Given the description of an element on the screen output the (x, y) to click on. 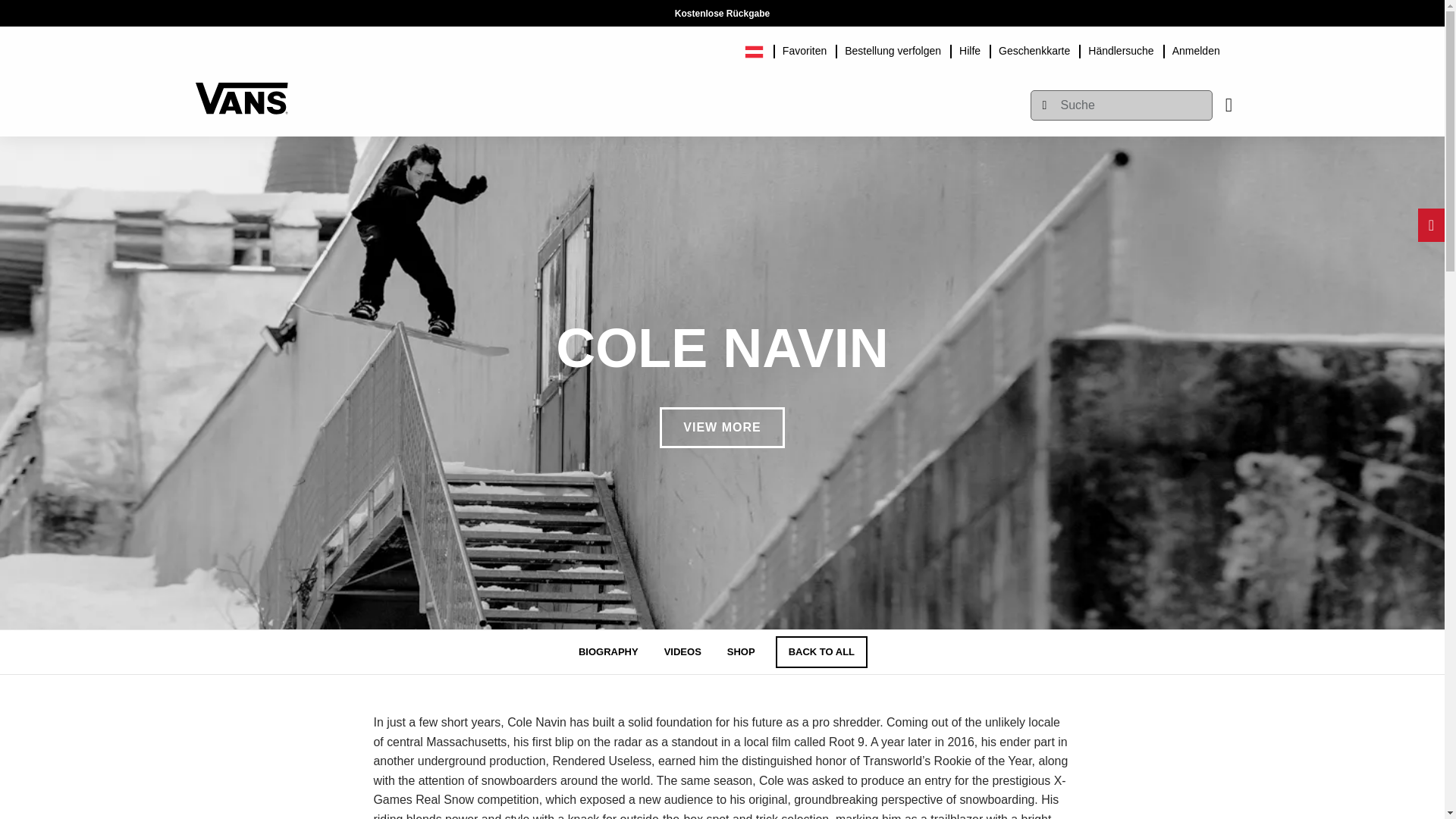
Geschenkkarte (1034, 48)
Austria (758, 48)
Anmelden (1195, 48)
Geschenkkarte (1034, 48)
Skip to main content (202, 7)
Hilfe (970, 48)
Vans (241, 91)
Hilfe (970, 48)
Bestellung verfolgen (892, 48)
Favoriten (804, 48)
Anmelden (1195, 48)
Bestellung verfolgen (892, 48)
